Given the description of an element on the screen output the (x, y) to click on. 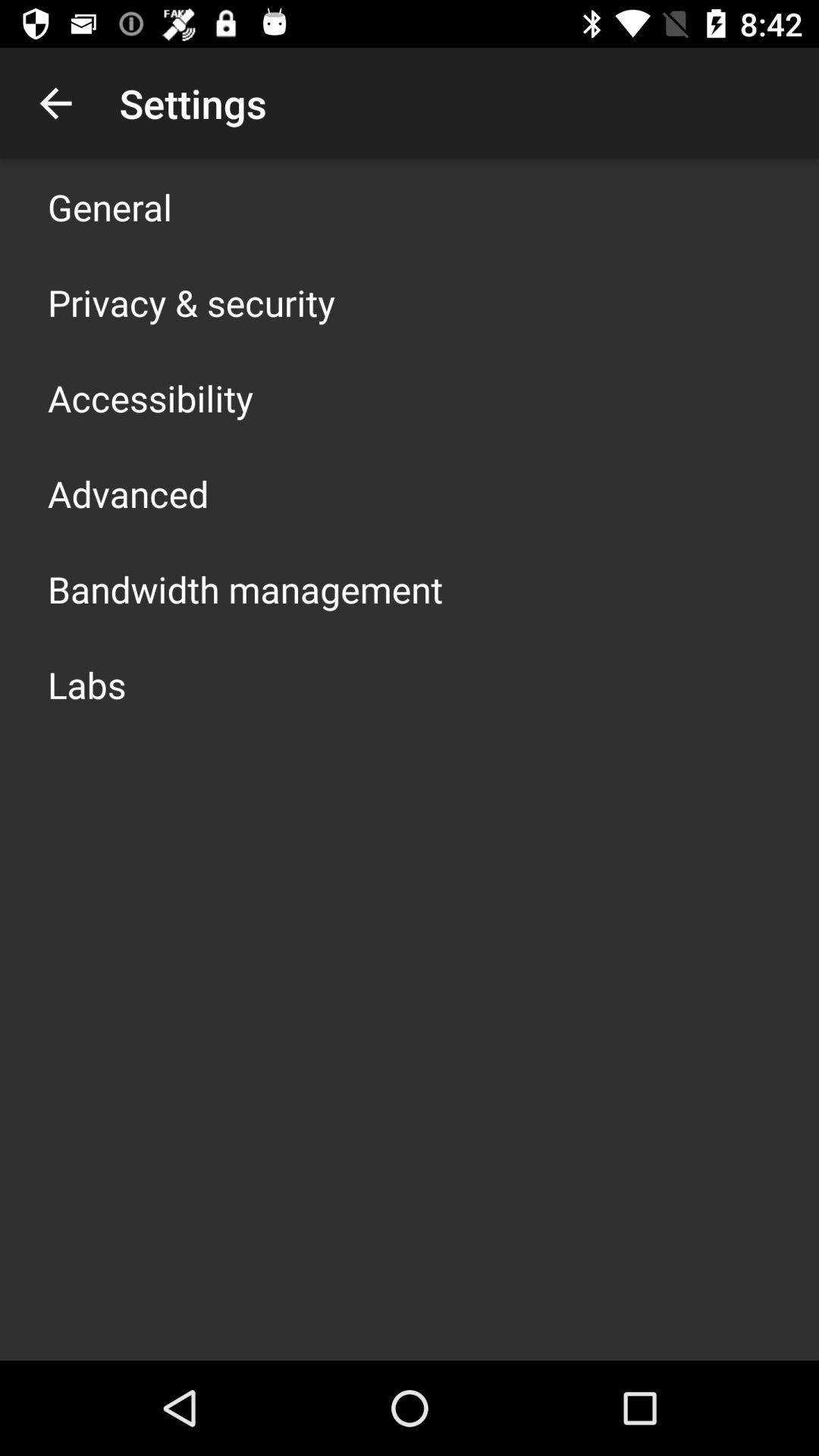
choose bandwidth management app (245, 588)
